Given the description of an element on the screen output the (x, y) to click on. 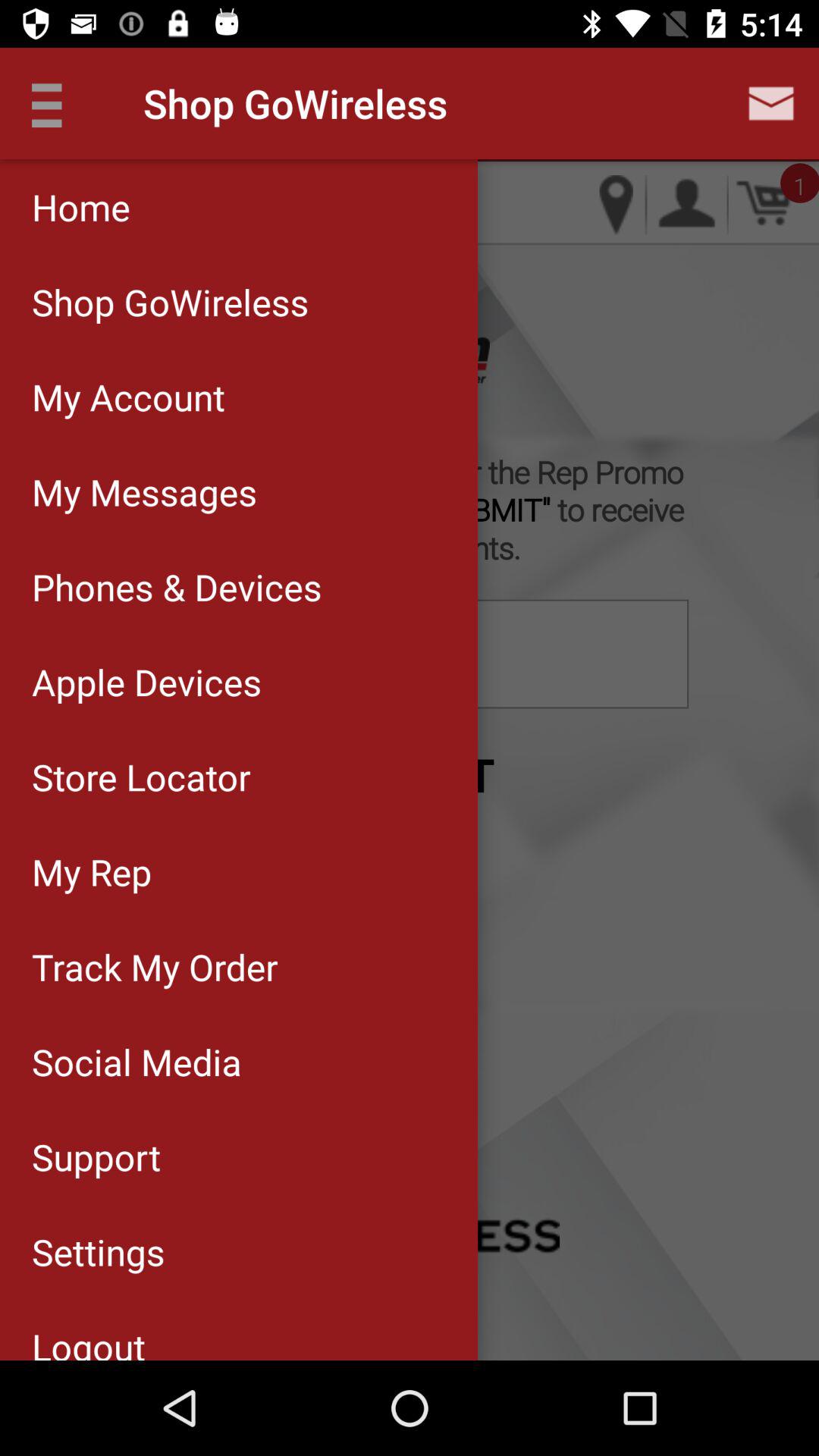
launch item below track my order icon (238, 1061)
